Given the description of an element on the screen output the (x, y) to click on. 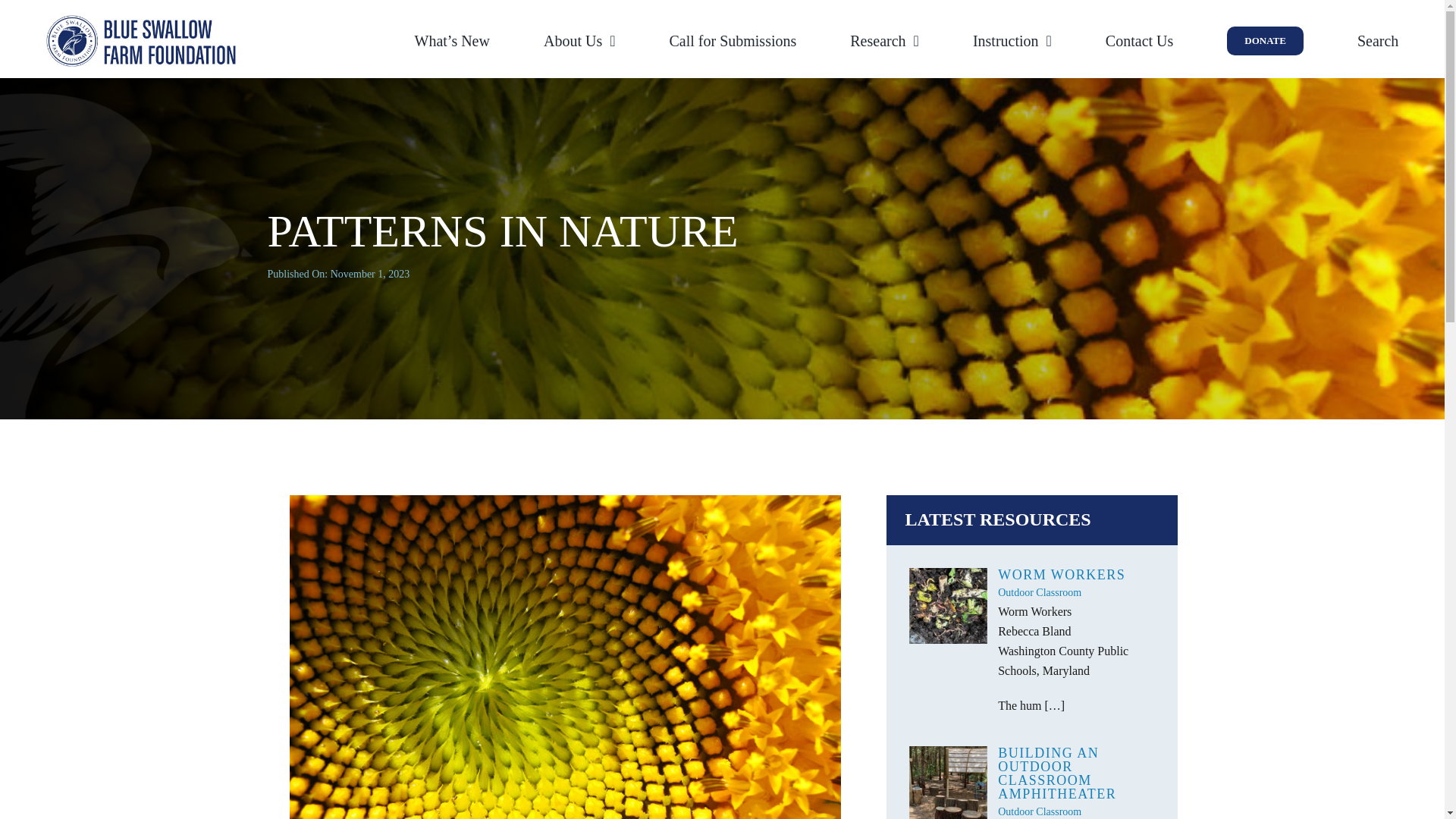
Instruction (1011, 40)
Search (1376, 40)
Search (1376, 40)
Call for Submissions (732, 40)
Research (884, 40)
DONATE (1265, 40)
About Us (579, 40)
Contact Us (1139, 40)
